Given the description of an element on the screen output the (x, y) to click on. 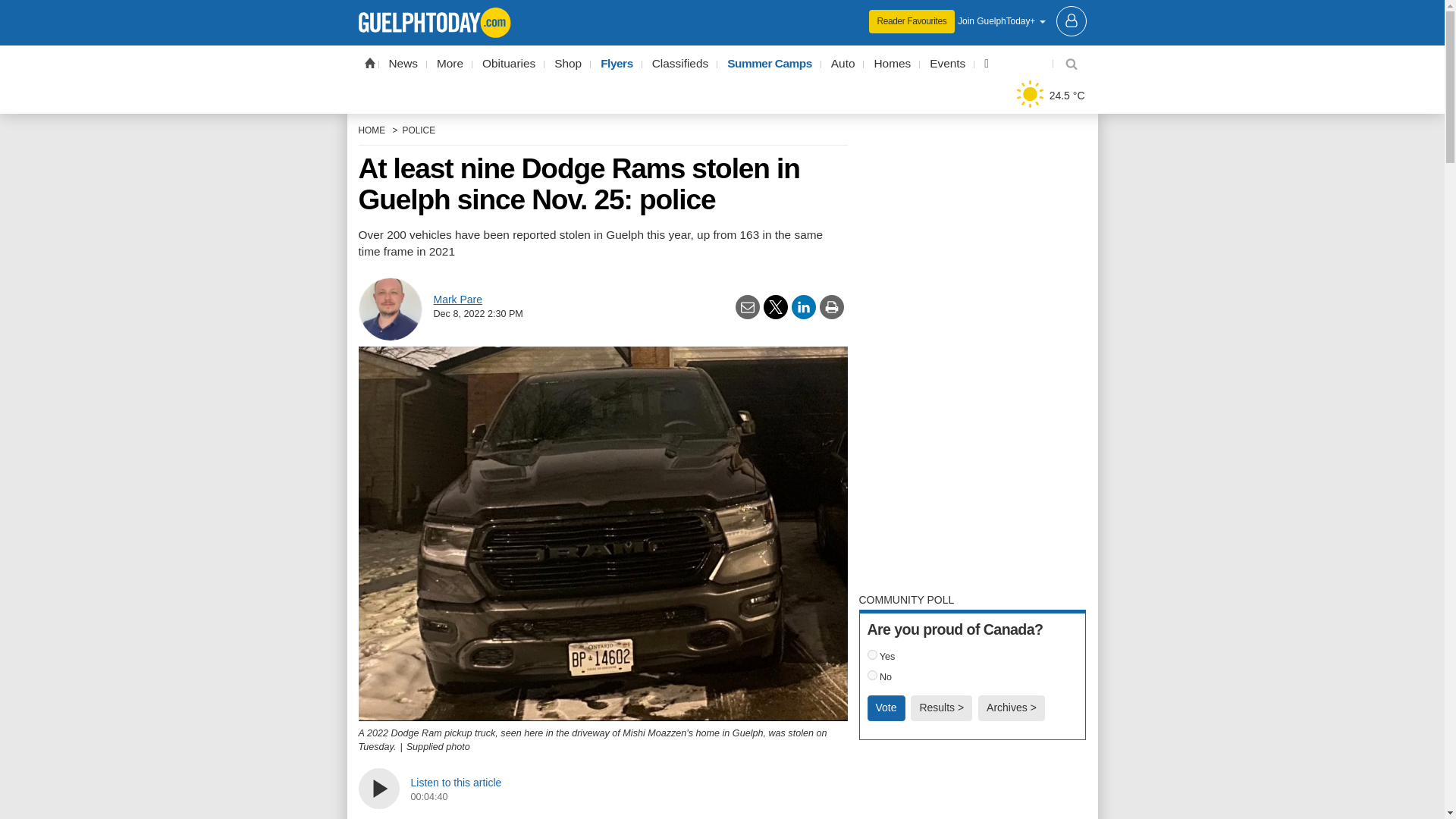
Home (368, 62)
3rd party ad content (722, 10)
122182 (872, 654)
122183 (872, 675)
3rd party ad content (972, 787)
News (403, 64)
Reader Favourites (912, 21)
